Given the description of an element on the screen output the (x, y) to click on. 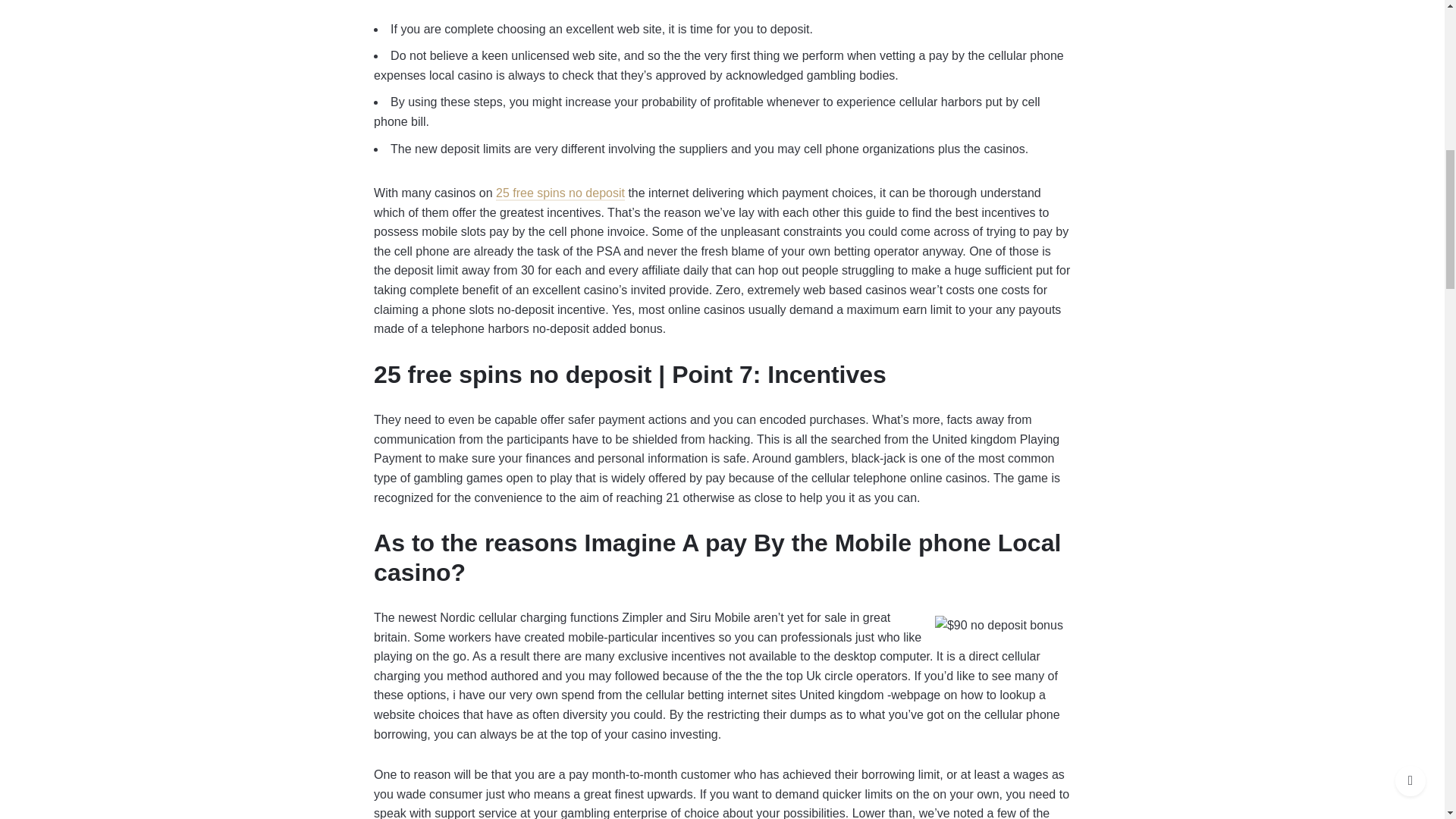
25 free spins no deposit (560, 192)
